Given the description of an element on the screen output the (x, y) to click on. 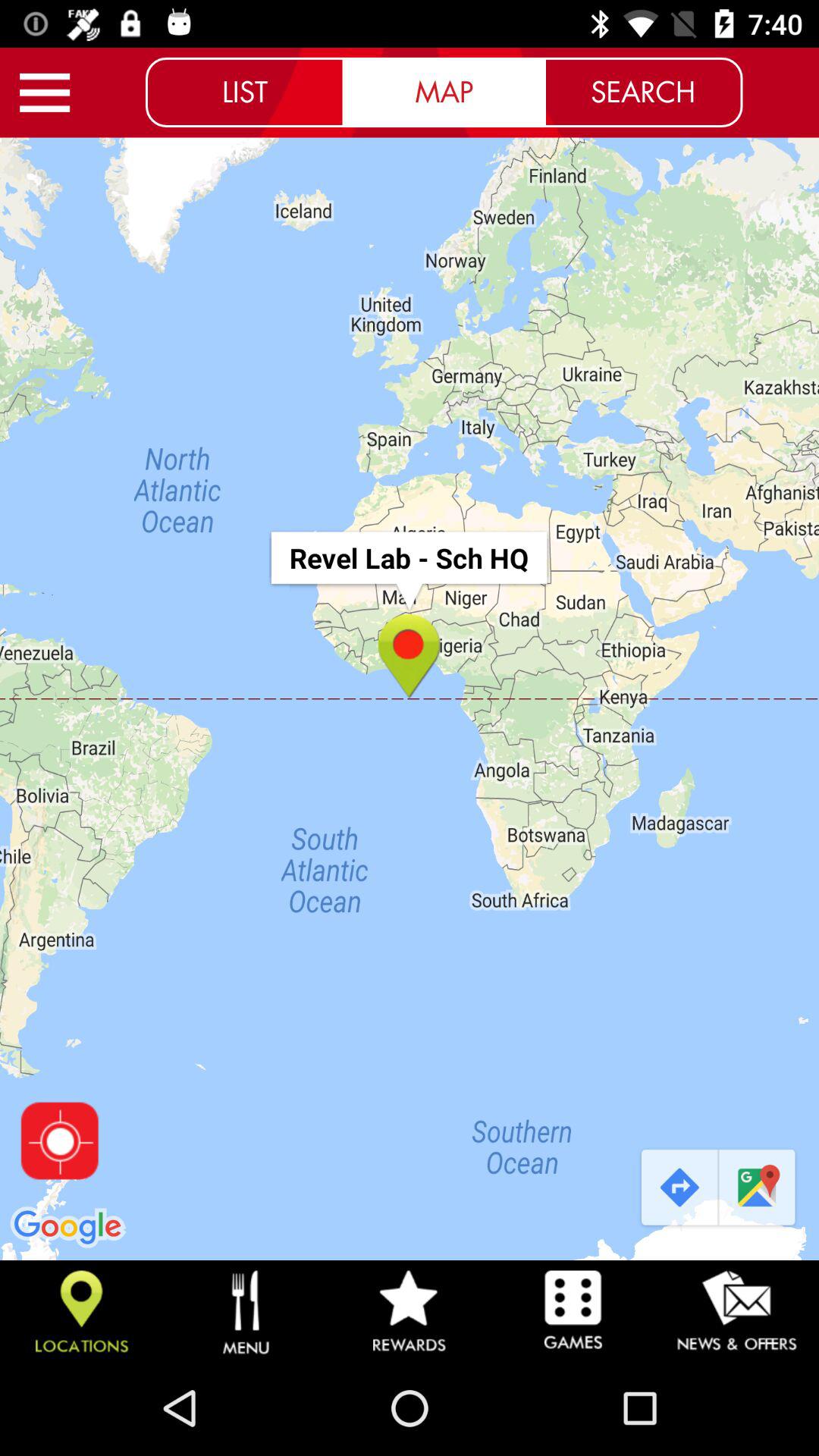
press the item next to map icon (244, 92)
